Given the description of an element on the screen output the (x, y) to click on. 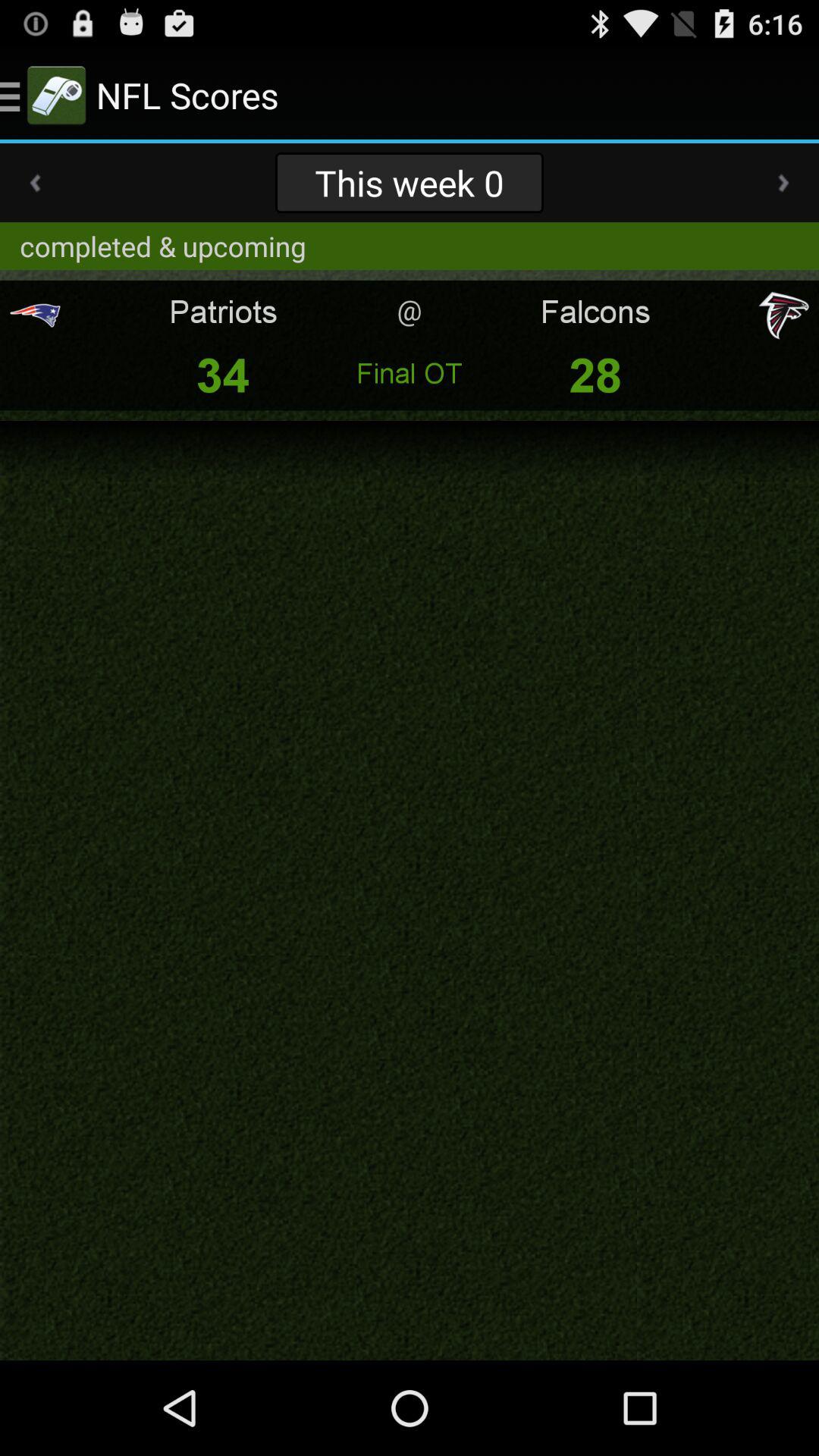
select app to the right of this week 0 item (783, 182)
